Given the description of an element on the screen output the (x, y) to click on. 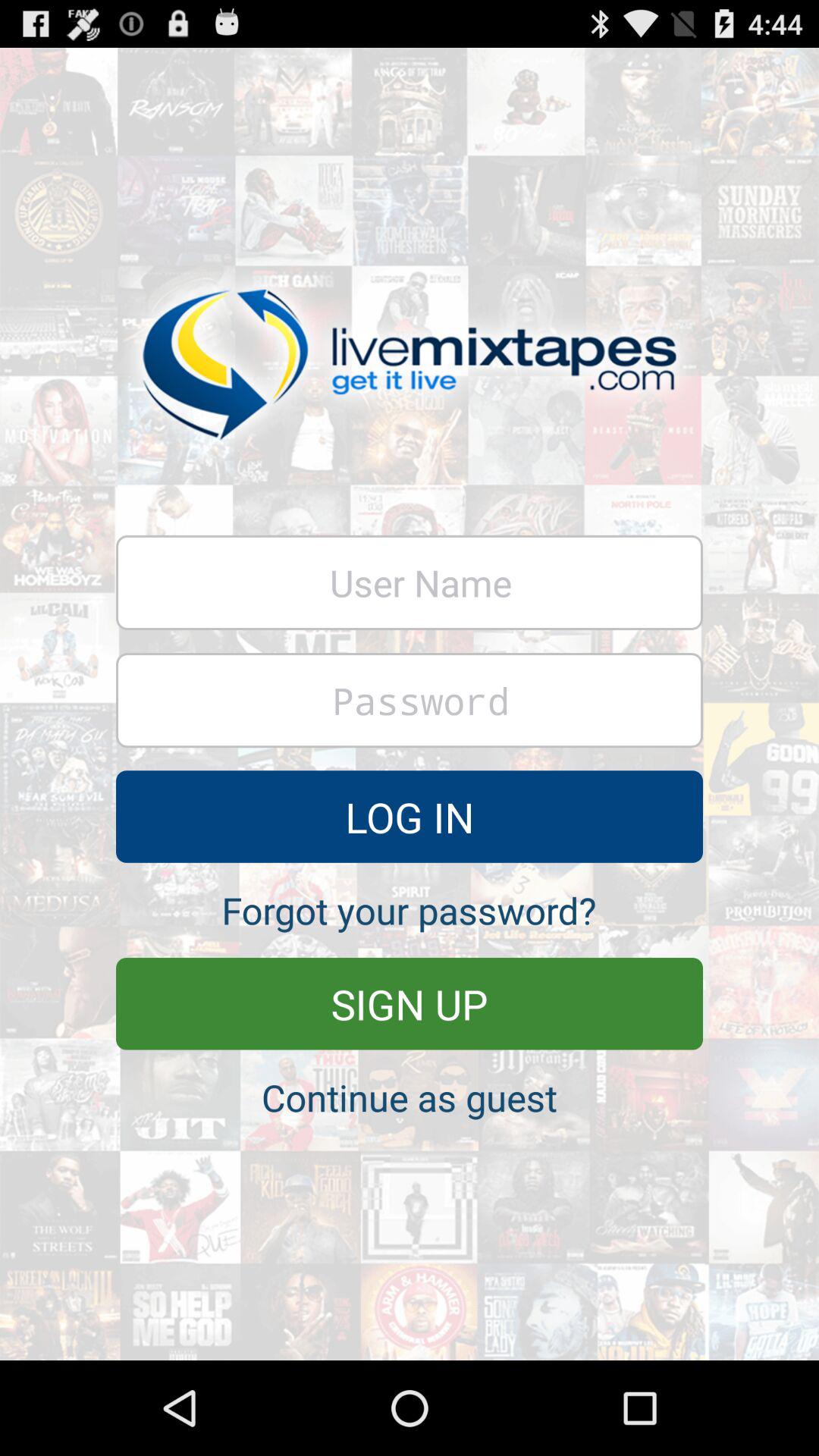
most exclusive world premiere of any mixtape outlet of the highest quality (409, 699)
